Given the description of an element on the screen output the (x, y) to click on. 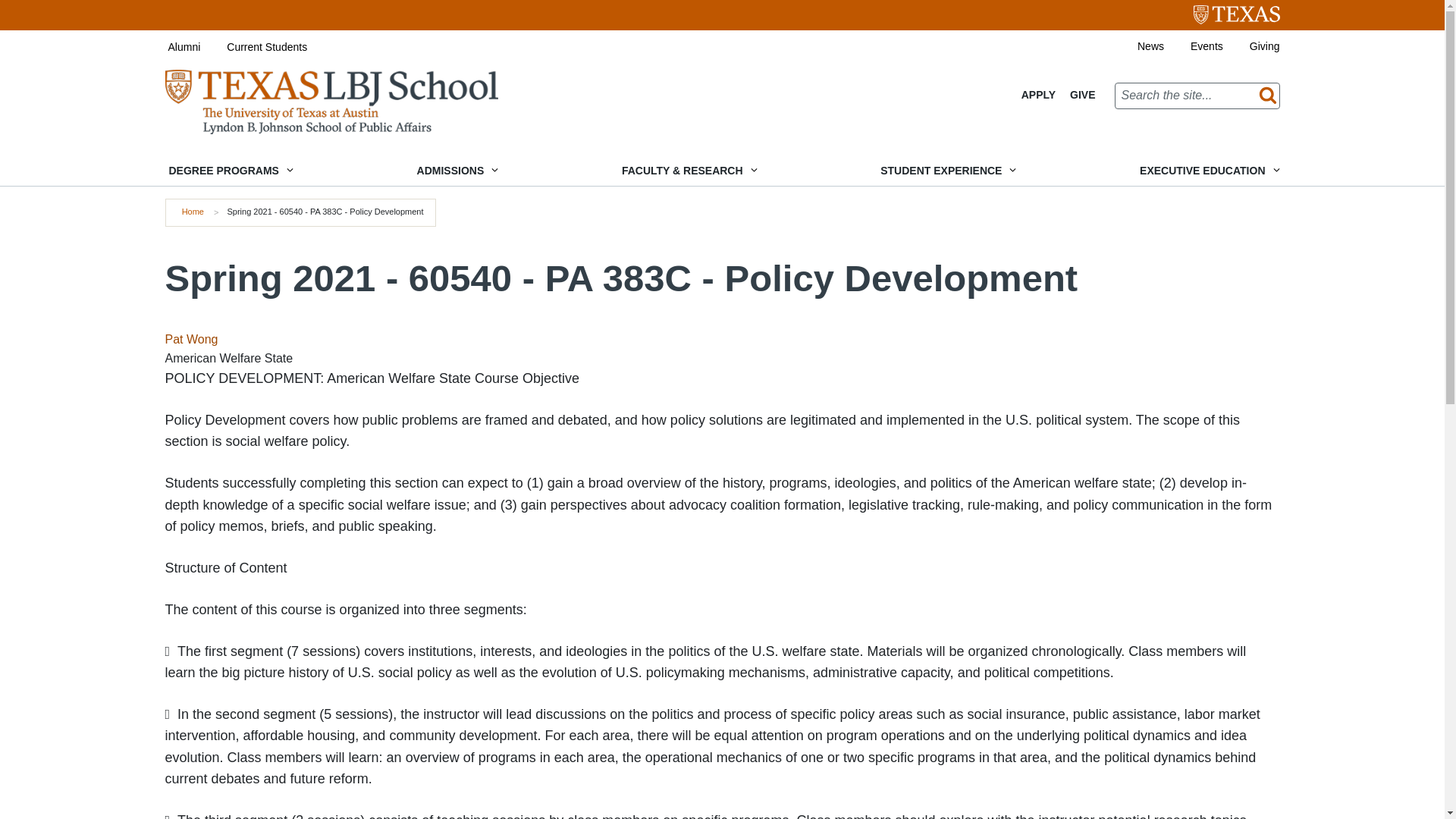
STUDENT EXPERIENCE (946, 171)
Search (1264, 95)
DEGREE PROGRAMS (229, 171)
Alumni (170, 46)
EXECUTIVE EDUCATION (1207, 171)
ADMISSIONS (456, 171)
Current Students (253, 46)
Enter the terms you wish to search for. (1197, 95)
News (1136, 46)
Search (1264, 95)
Events (1193, 46)
Home (331, 101)
GIVE (1082, 94)
Home (192, 211)
APPLY (1038, 94)
